Given the description of an element on the screen output the (x, y) to click on. 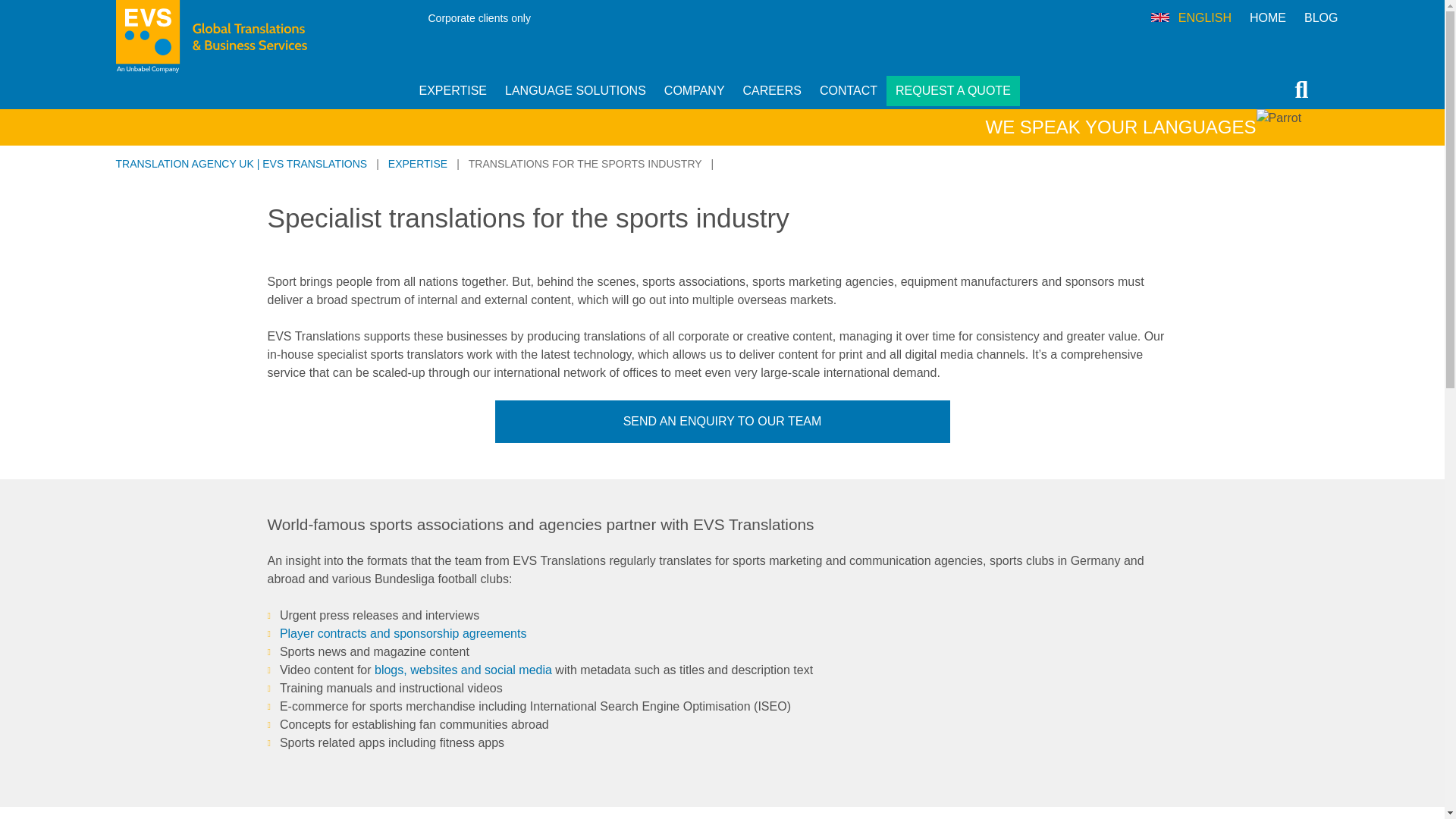
EVS Translations (253, 36)
English (1160, 17)
COMPANY (694, 90)
HOME (1267, 18)
Home (1267, 18)
BLOG (1320, 18)
LANGUAGE SOLUTIONS (575, 90)
EXPERTISE (452, 90)
